Given the description of an element on the screen output the (x, y) to click on. 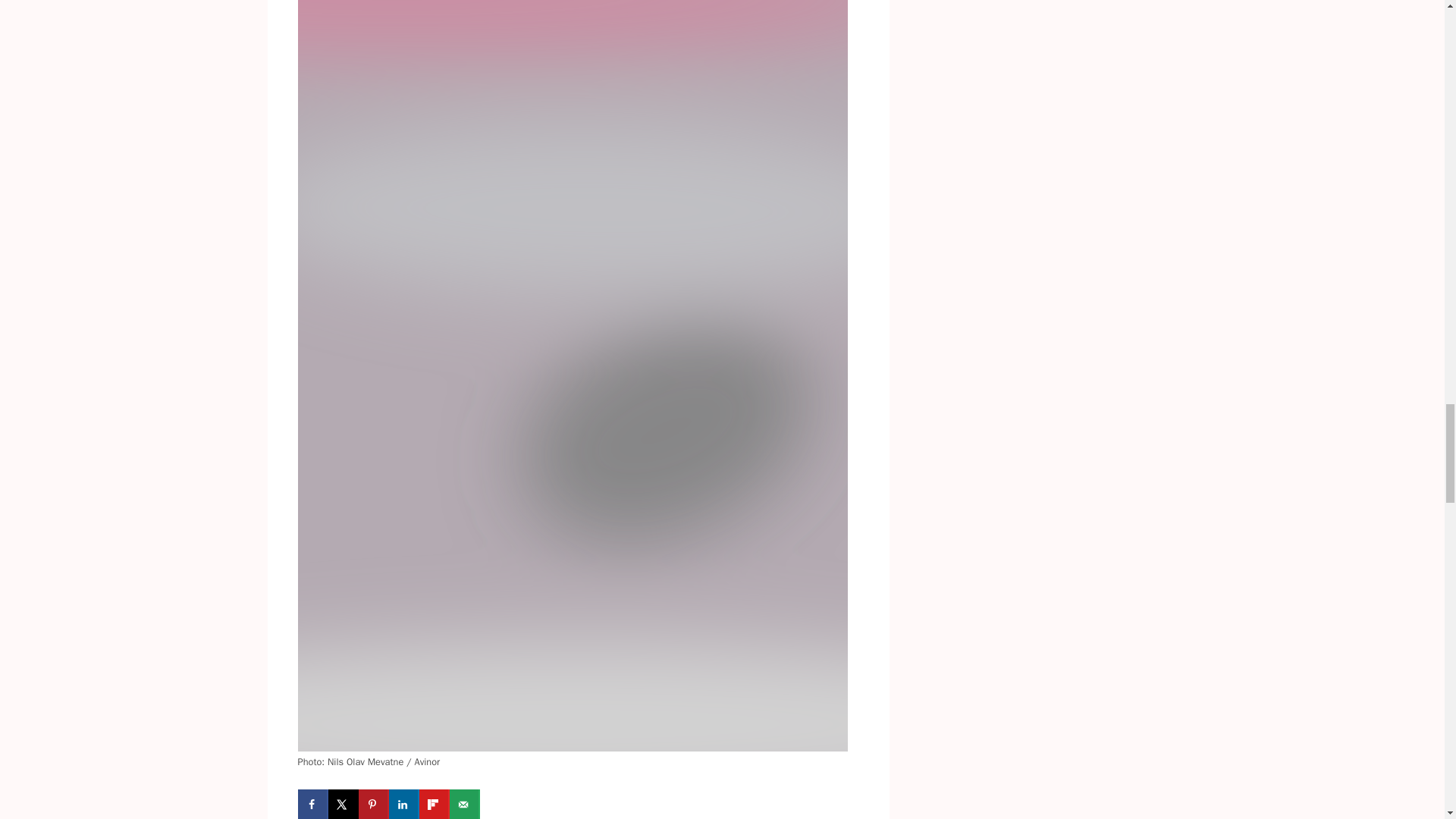
Share on Facebook (312, 804)
Share on LinkedIn (403, 804)
Share on X (342, 804)
Save to Pinterest (373, 804)
Share on Flipboard (433, 804)
Send over email (463, 804)
